Given the description of an element on the screen output the (x, y) to click on. 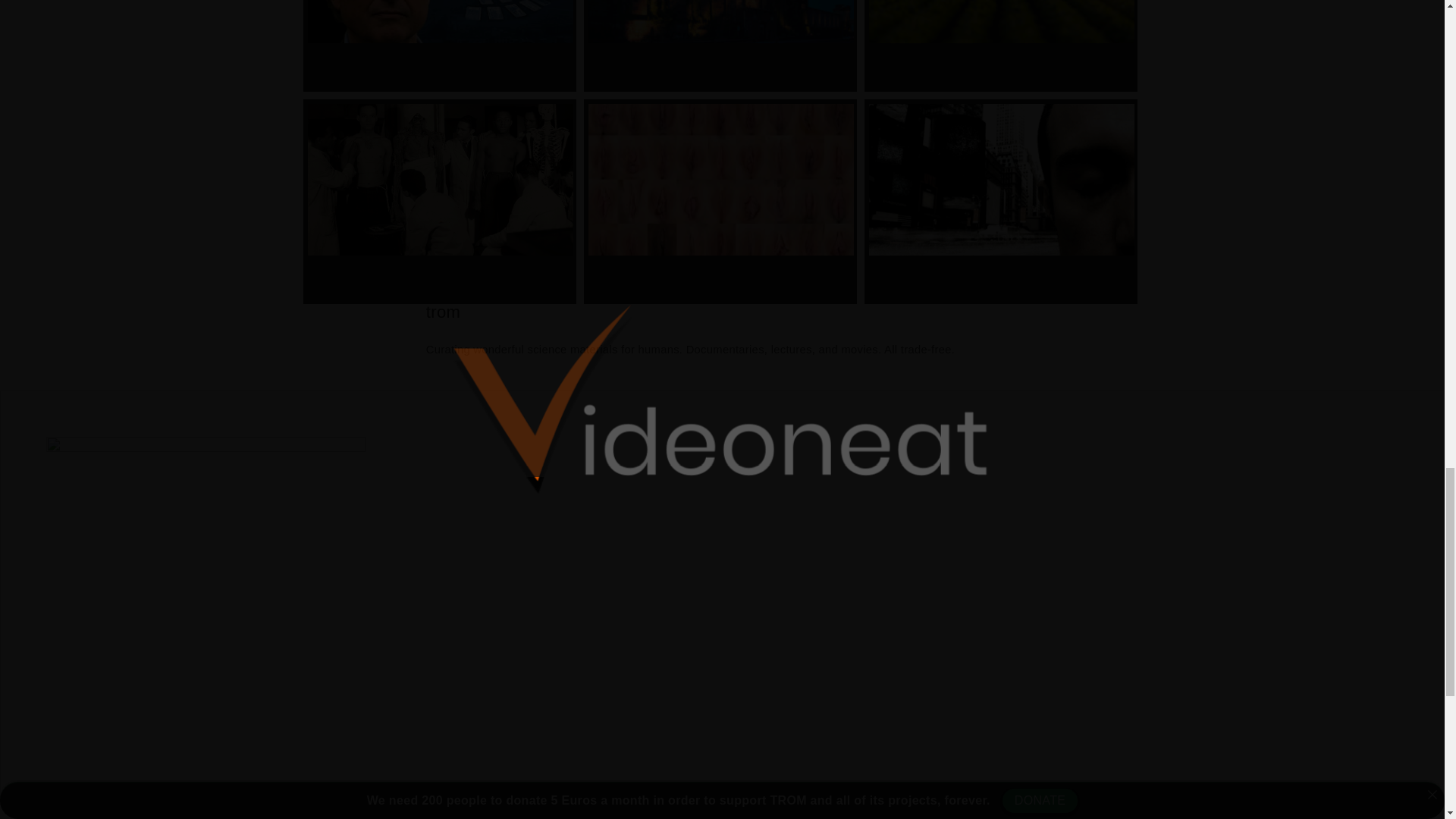
RACE: THE POWER OF AN ILLUSION (439, 201)
THE PERFECT VAGINA (720, 201)
THE ENEMIES OF REASON (439, 45)
Posts by trom (443, 311)
The Monsanto Papers (1000, 45)
The Enemies of Reason (439, 45)
THE MONSANTO PAPERS (1000, 45)
Haunted Prison (720, 45)
HAUNTED PRISON (720, 45)
Zeitgeist Moving Forward (1000, 201)
